Given the description of an element on the screen output the (x, y) to click on. 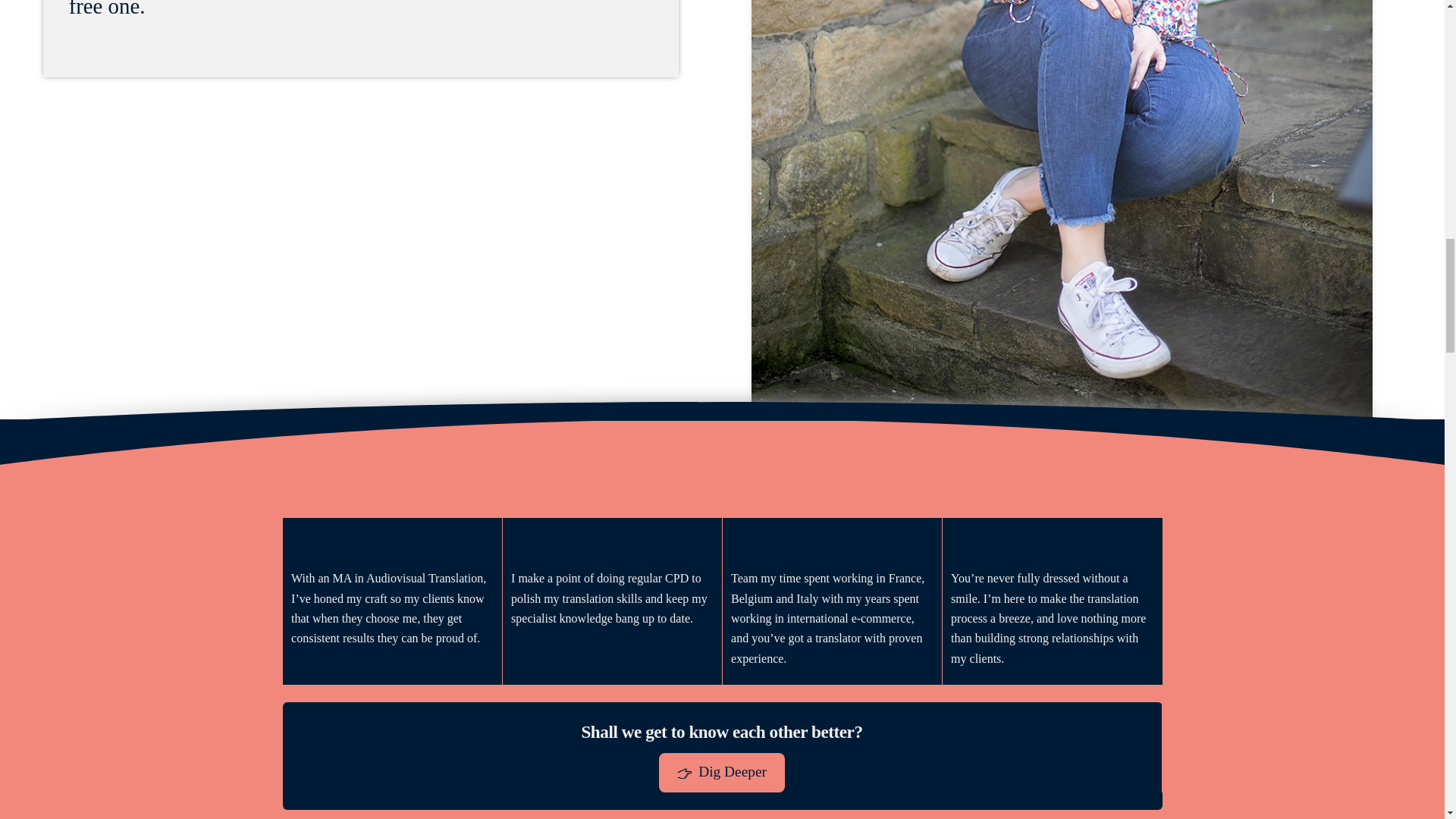
Dig Deeper (721, 772)
